Given the description of an element on the screen output the (x, y) to click on. 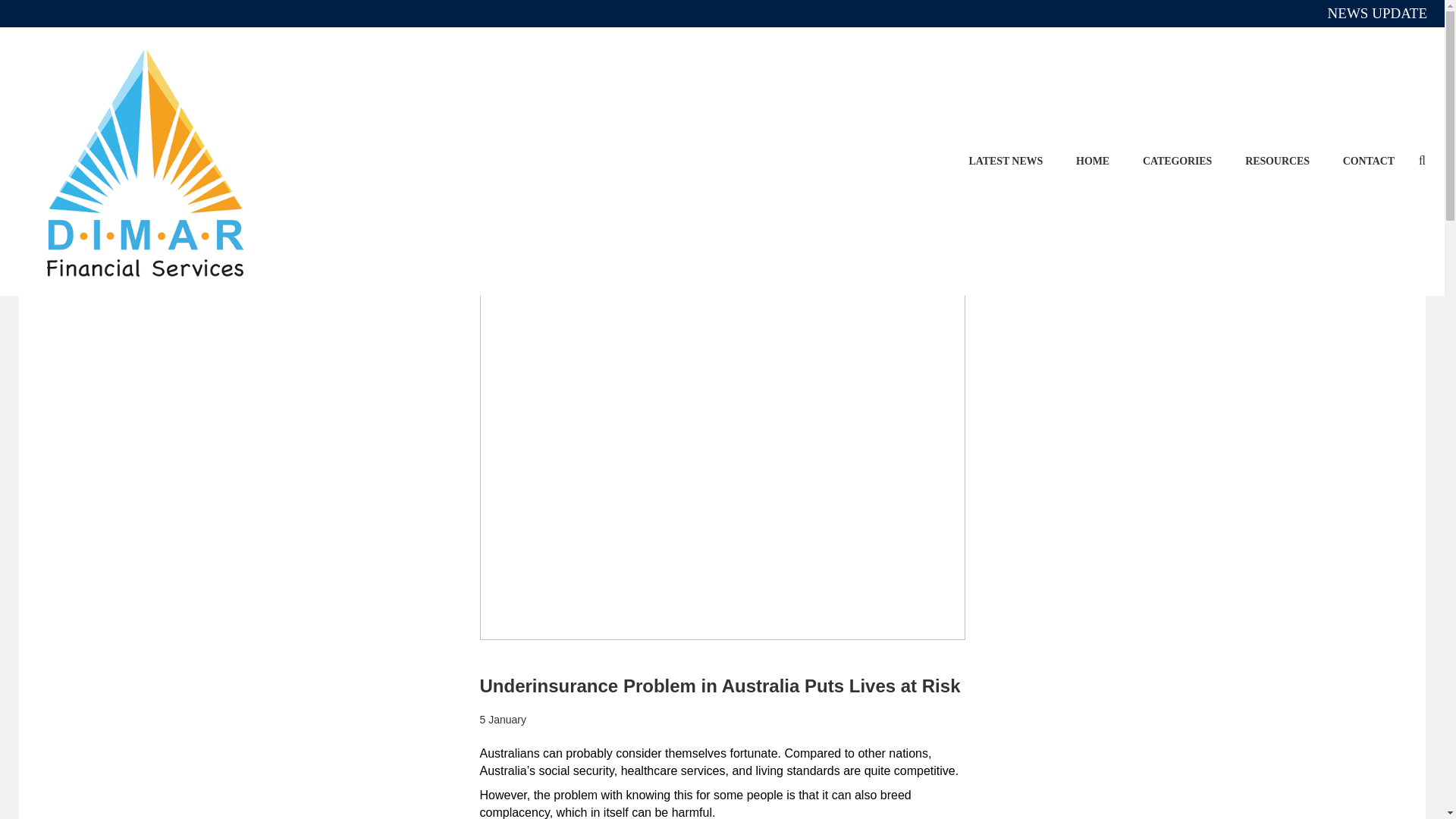
CATEGORIES (1176, 161)
CONTACT (1368, 161)
HOME (1092, 161)
RESOURCES (1276, 161)
Dimar Financial services (145, 161)
LATEST NEWS (1006, 161)
